Given the description of an element on the screen output the (x, y) to click on. 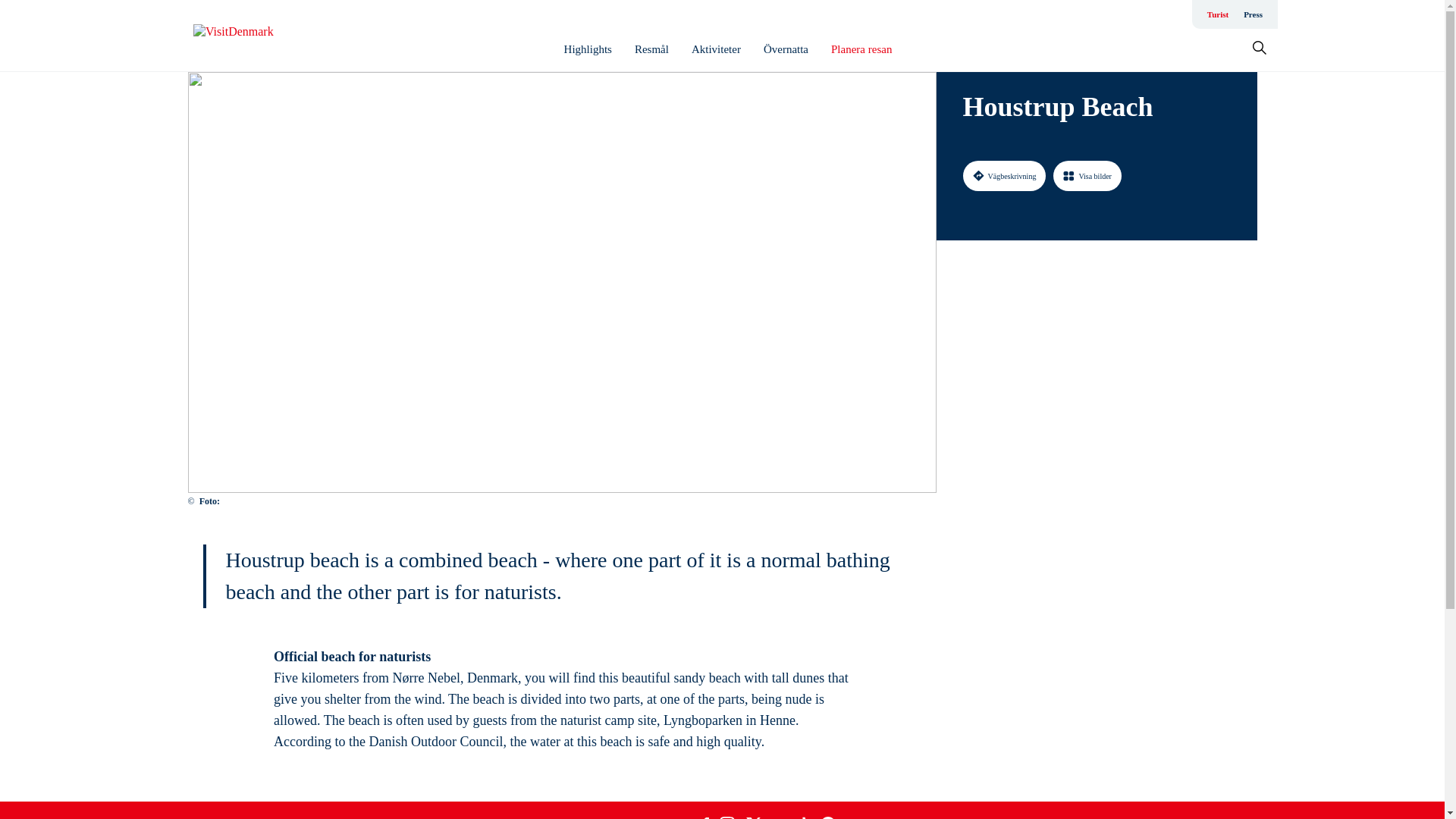
Planera resan (861, 49)
Go to homepage (253, 35)
instagram (726, 817)
pinterest (828, 817)
Aktiviteter (716, 49)
Highlights (587, 49)
Turist (1217, 14)
Press (1252, 14)
